Given the description of an element on the screen output the (x, y) to click on. 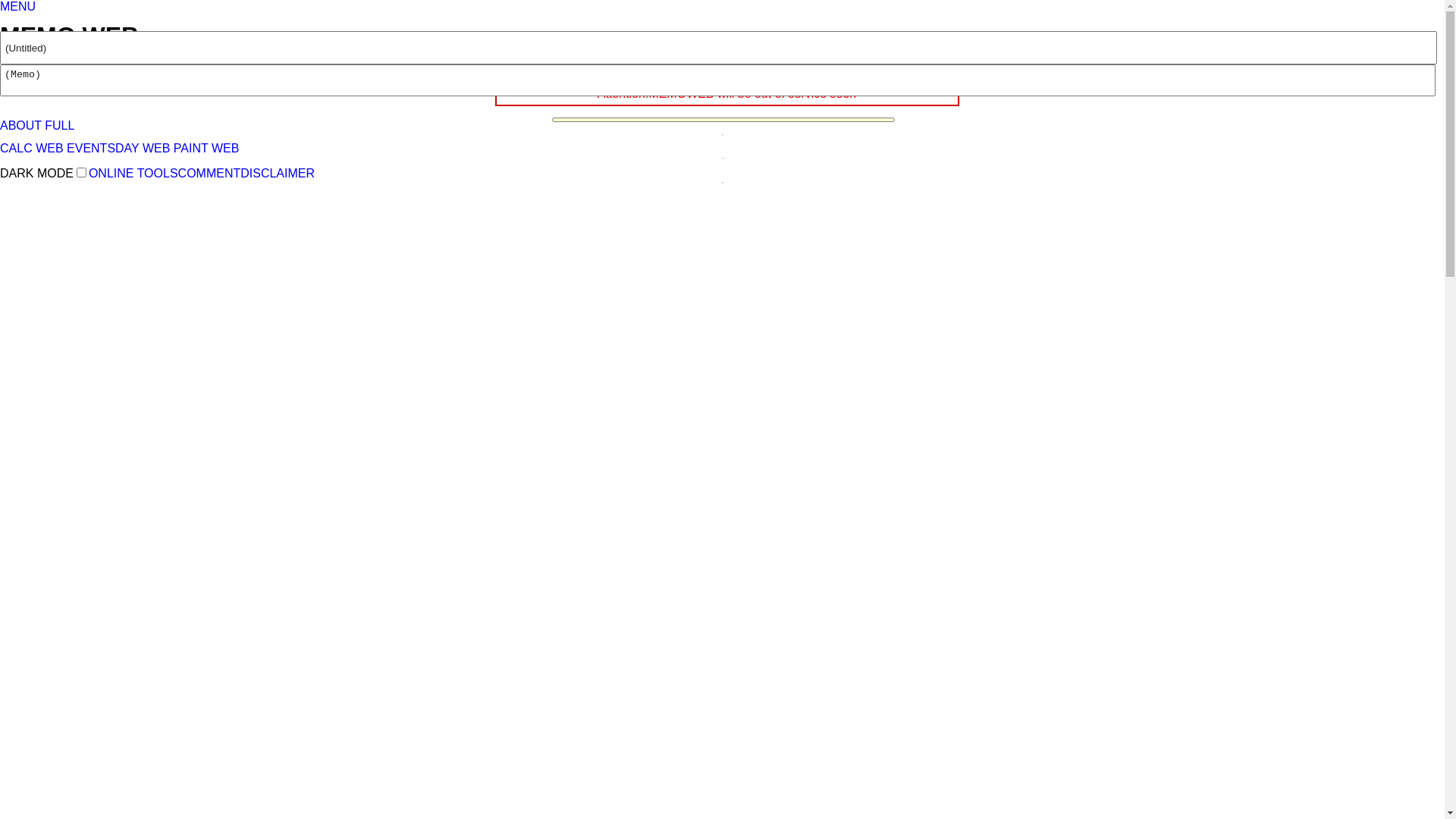
ONLINE TOOLS Element type: text (50, 65)
FULL Element type: text (59, 125)
PAINT WEB Element type: text (206, 147)
ONLINE TOOLS Element type: text (133, 172)
MENU Element type: text (17, 6)
EVENTSDAY WEB Element type: text (117, 147)
CALC WEB Element type: text (31, 147)
ABOUT Element type: text (20, 125)
DISCLAIMER Element type: text (277, 172)
COMMENT Element type: text (209, 172)
